Given the description of an element on the screen output the (x, y) to click on. 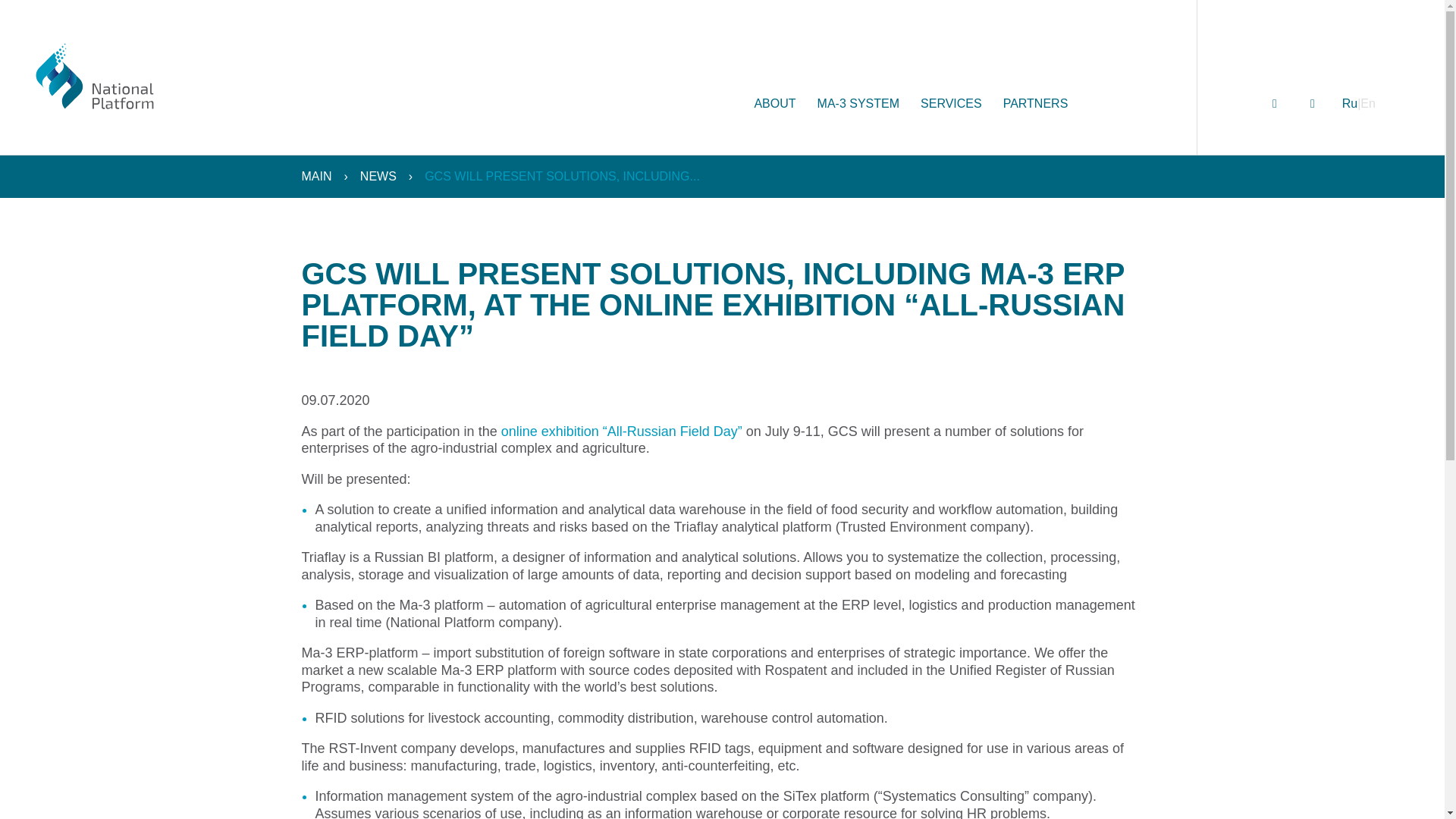
ABOUT (774, 124)
